Given the description of an element on the screen output the (x, y) to click on. 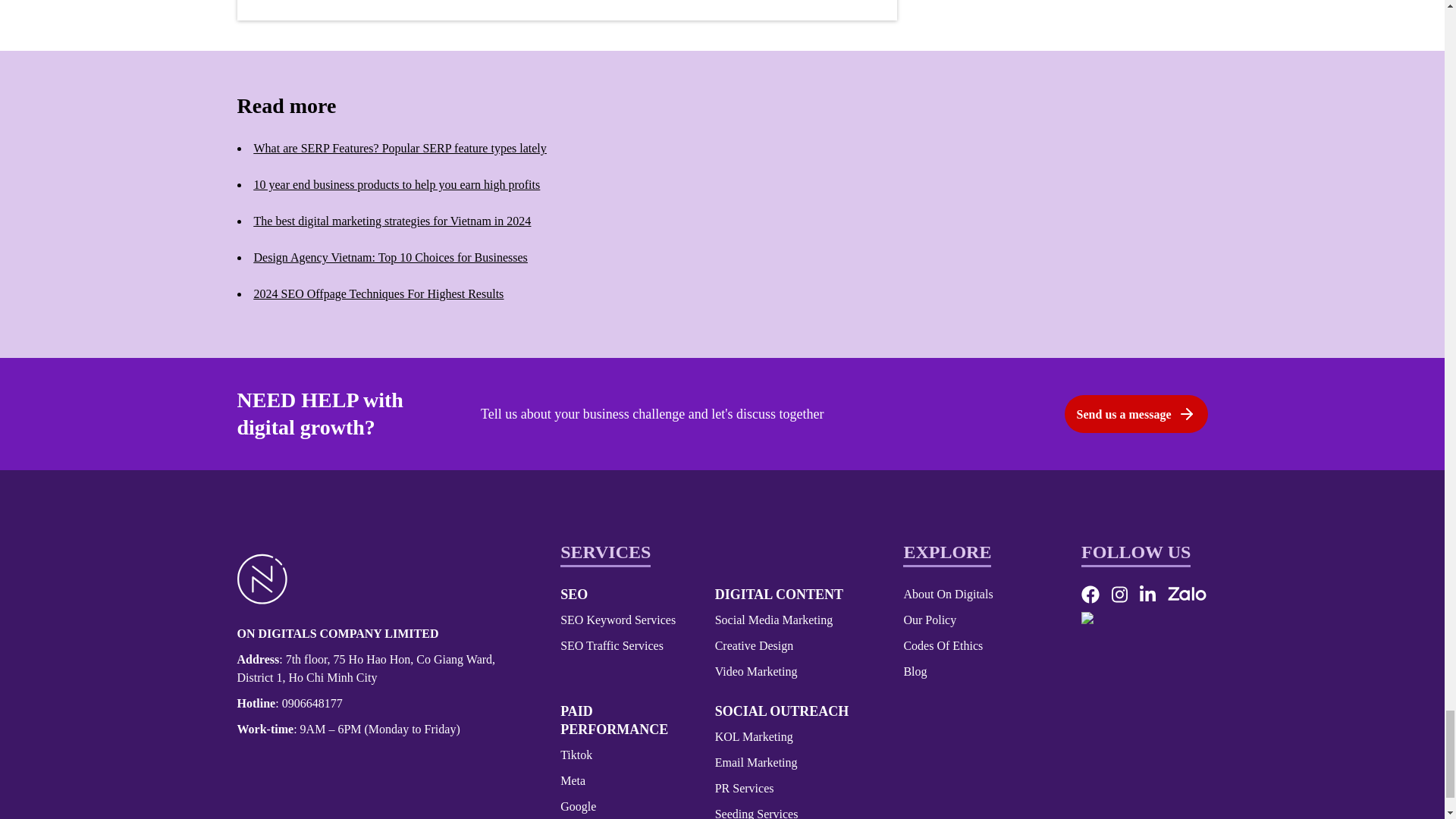
DMCA.com Protection Status (1144, 638)
